Given the description of an element on the screen output the (x, y) to click on. 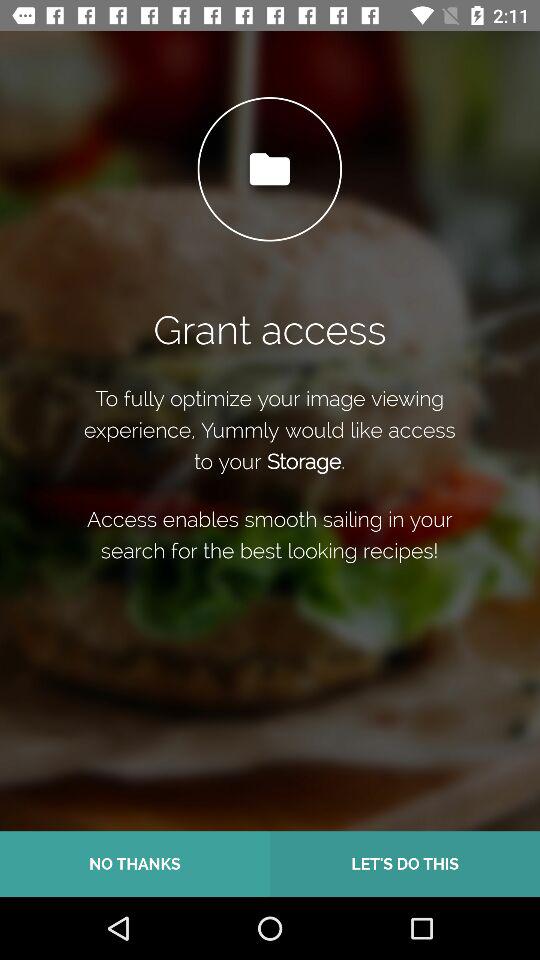
click the icon at the bottom left corner (135, 863)
